Given the description of an element on the screen output the (x, y) to click on. 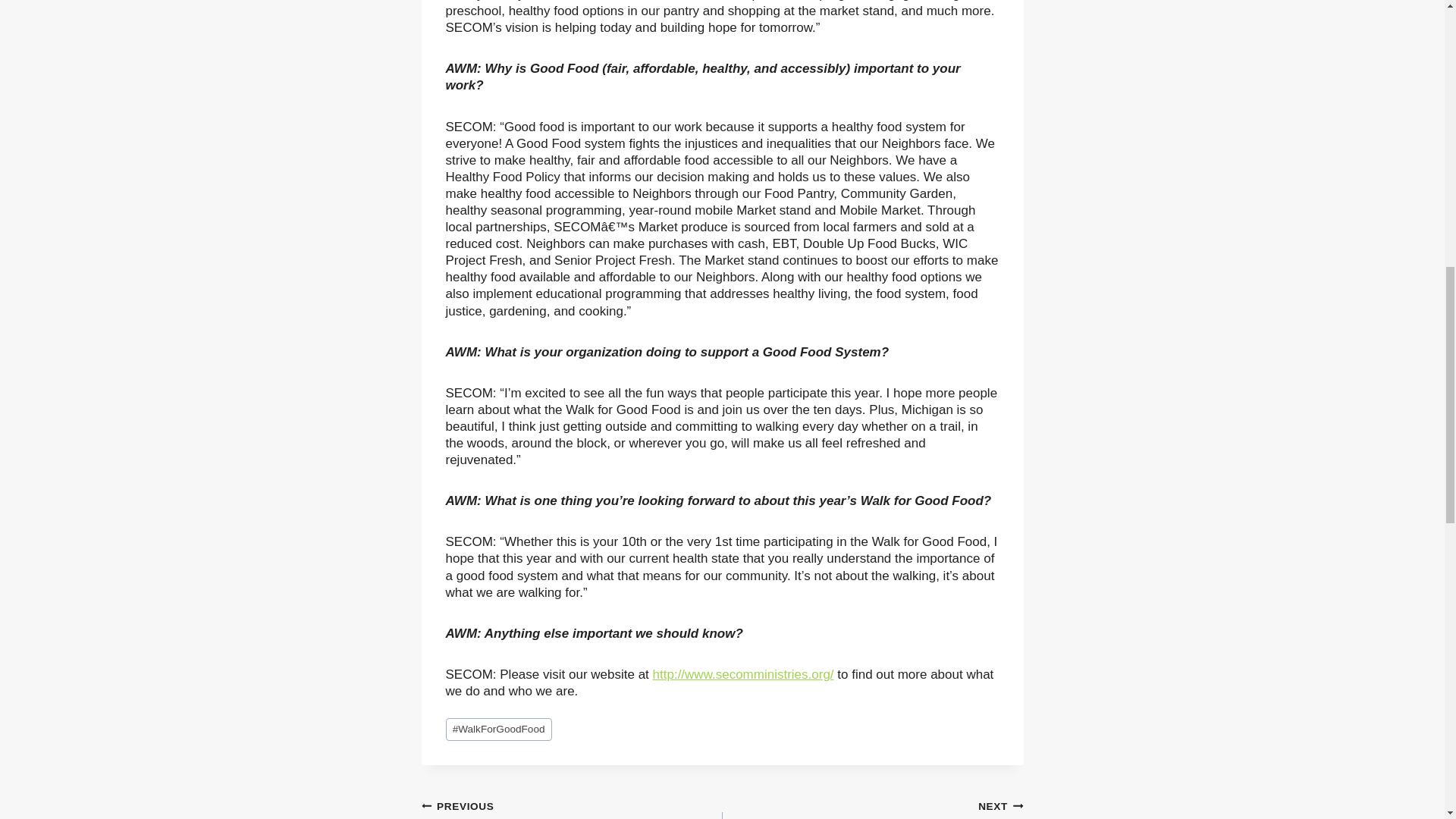
WalkForGoodFood (572, 808)
